Given the description of an element on the screen output the (x, y) to click on. 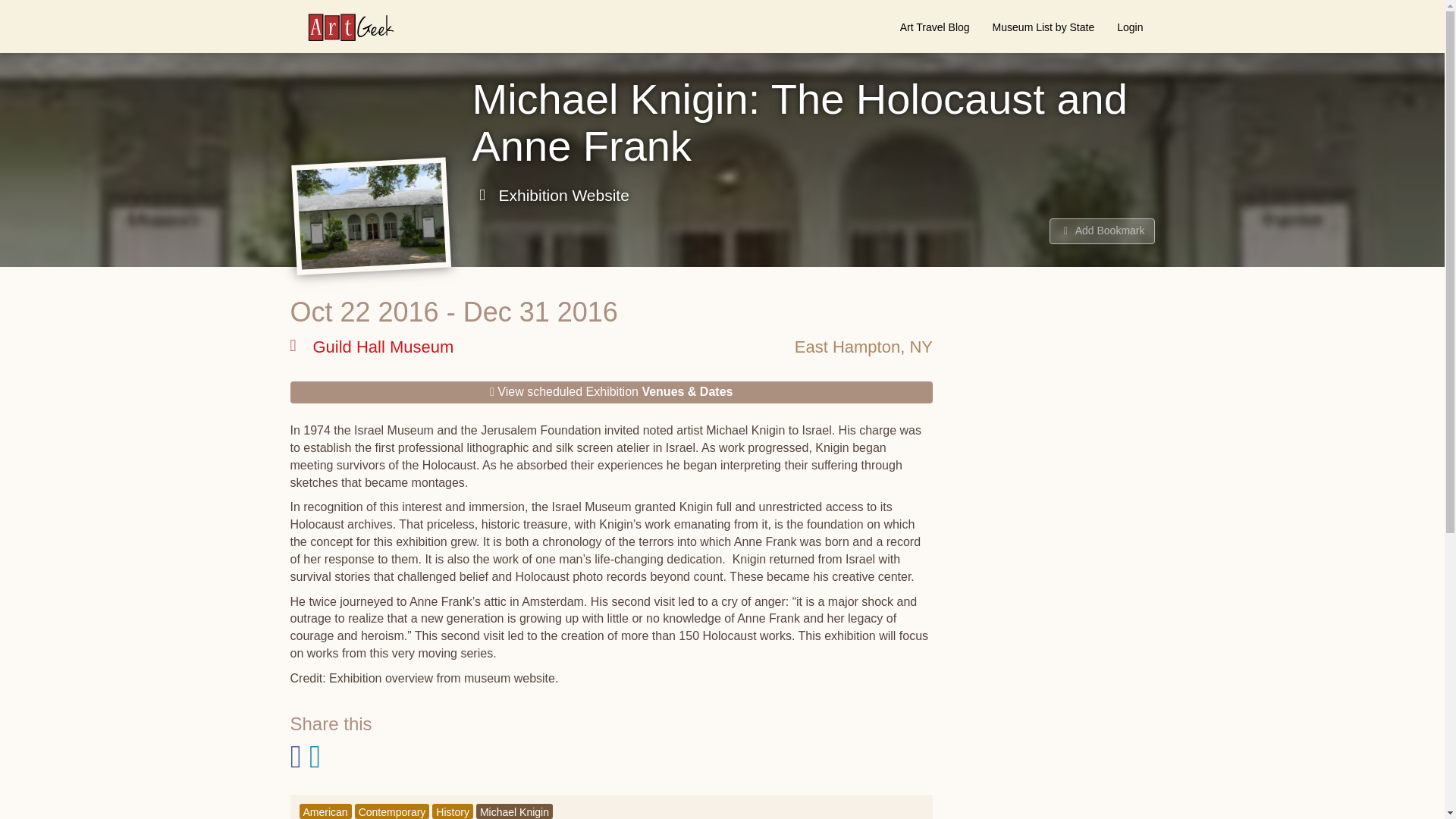
ArtGeek (343, 26)
Guild Hall Museum (370, 346)
Museum List by State (1043, 26)
Exhibition Website (549, 195)
Add Bookmark (1101, 231)
Art Travel Blog (934, 26)
Login (1129, 26)
